Given the description of an element on the screen output the (x, y) to click on. 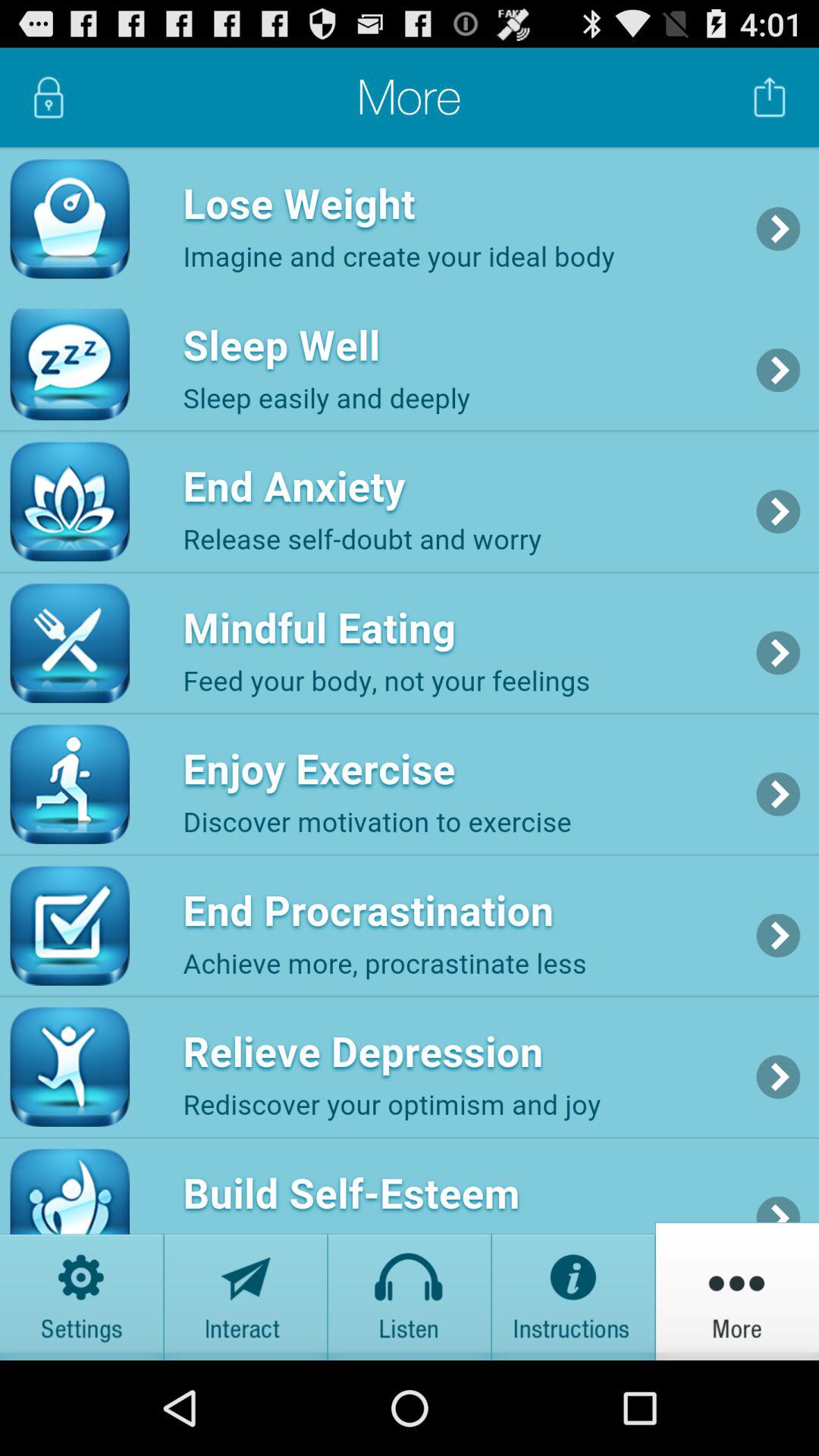
se (573, 1290)
